Given the description of an element on the screen output the (x, y) to click on. 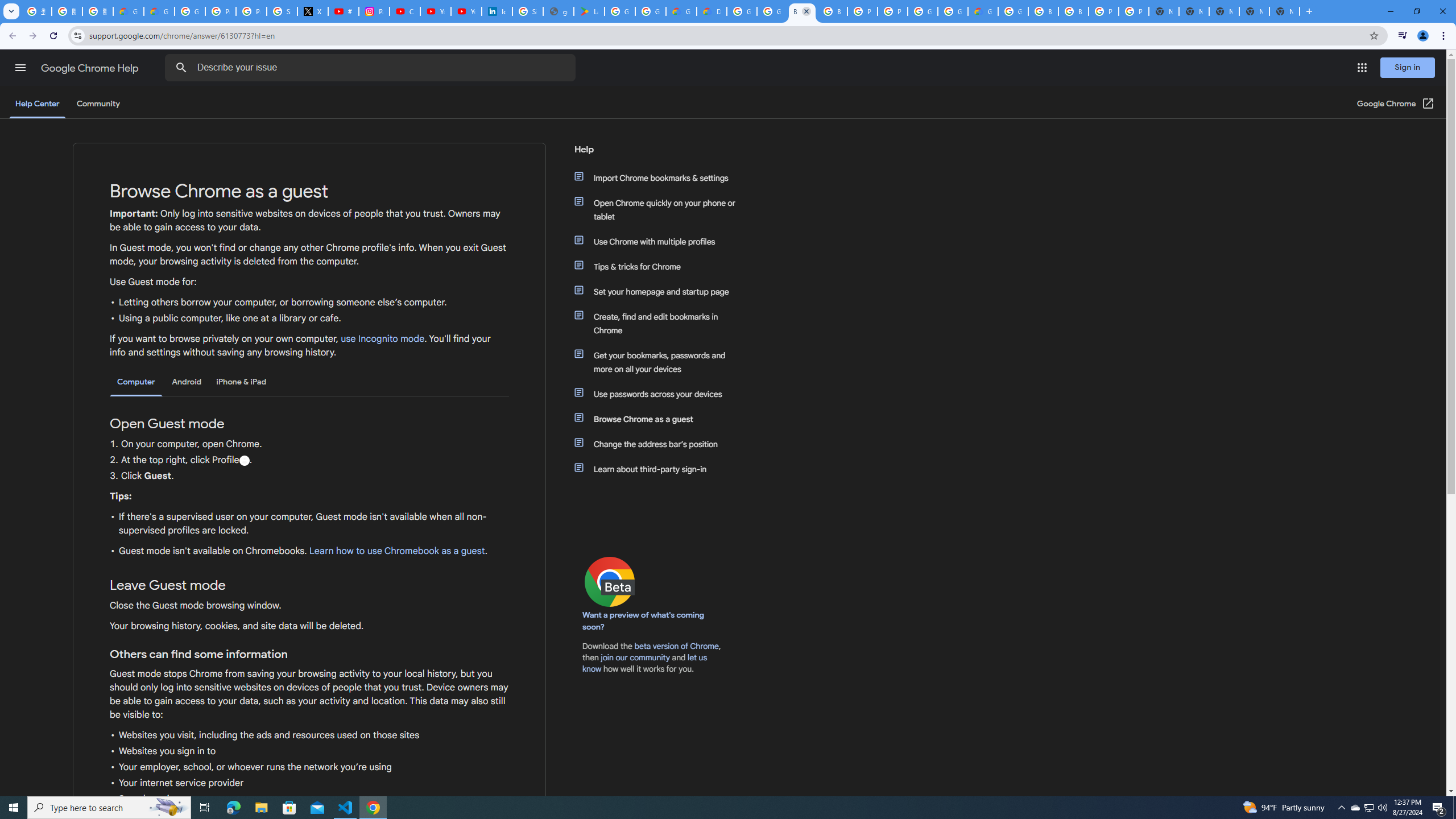
Describe your issue (371, 67)
Google Cloud Platform (922, 11)
Help Center (36, 103)
Set your homepage and startup page (661, 291)
Last Shelter: Survival - Apps on Google Play (589, 11)
Browse Chrome as a guest - Computer - Google Chrome Help (832, 11)
Open Chrome quickly on your phone or tablet (661, 209)
